Given the description of an element on the screen output the (x, y) to click on. 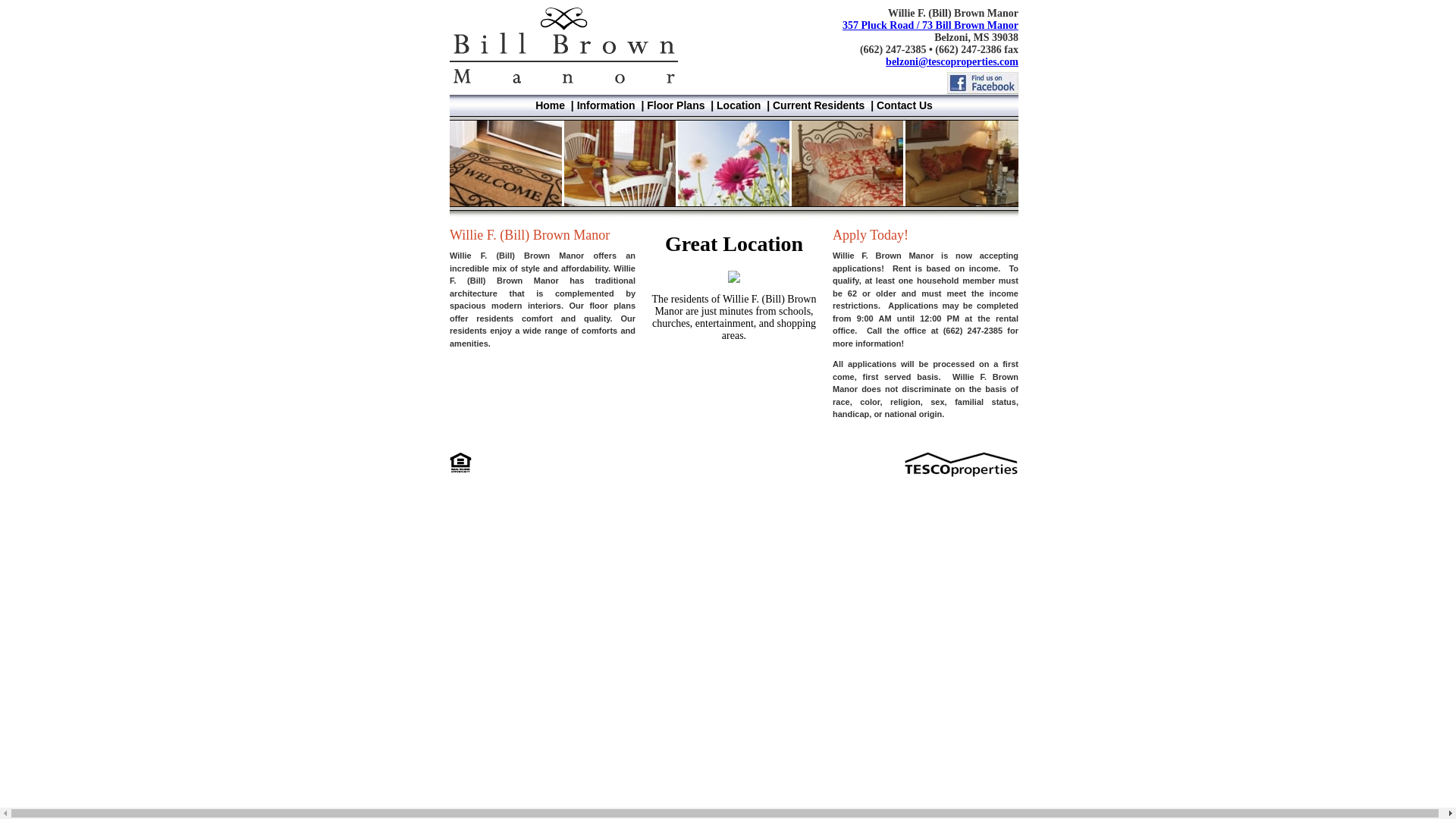
Home (549, 105)
Contact Us (904, 105)
Floor Plans (675, 105)
Location (738, 105)
Current Residents (818, 105)
Information (605, 105)
